Given the description of an element on the screen output the (x, y) to click on. 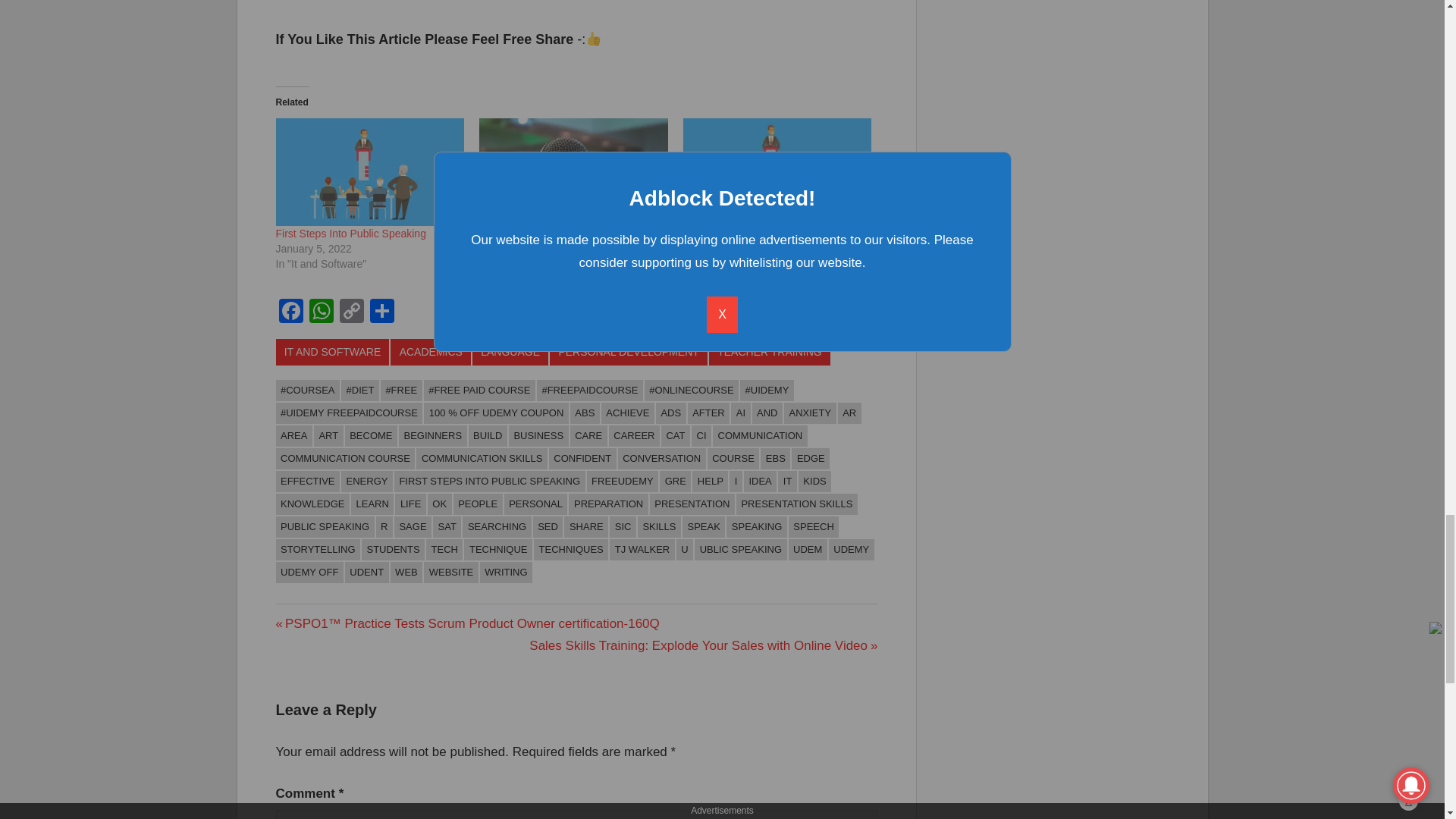
First Steps Into Public Speaking (370, 171)
Share (381, 312)
First Steps Into Public Speaking (777, 171)
Copy Link (351, 312)
Facebook (290, 312)
Transform Your Public Speaking Skills (568, 233)
ACADEMICS (430, 352)
IT AND SOFTWARE (333, 352)
Facebook (290, 312)
First Steps Into Public Speaking (351, 233)
Copy Link (351, 312)
PERSONAL DEVELOPMENT (628, 352)
TEACHER TRAINING (769, 352)
WhatsApp (320, 312)
LANGUAGE (509, 352)
